Given the description of an element on the screen output the (x, y) to click on. 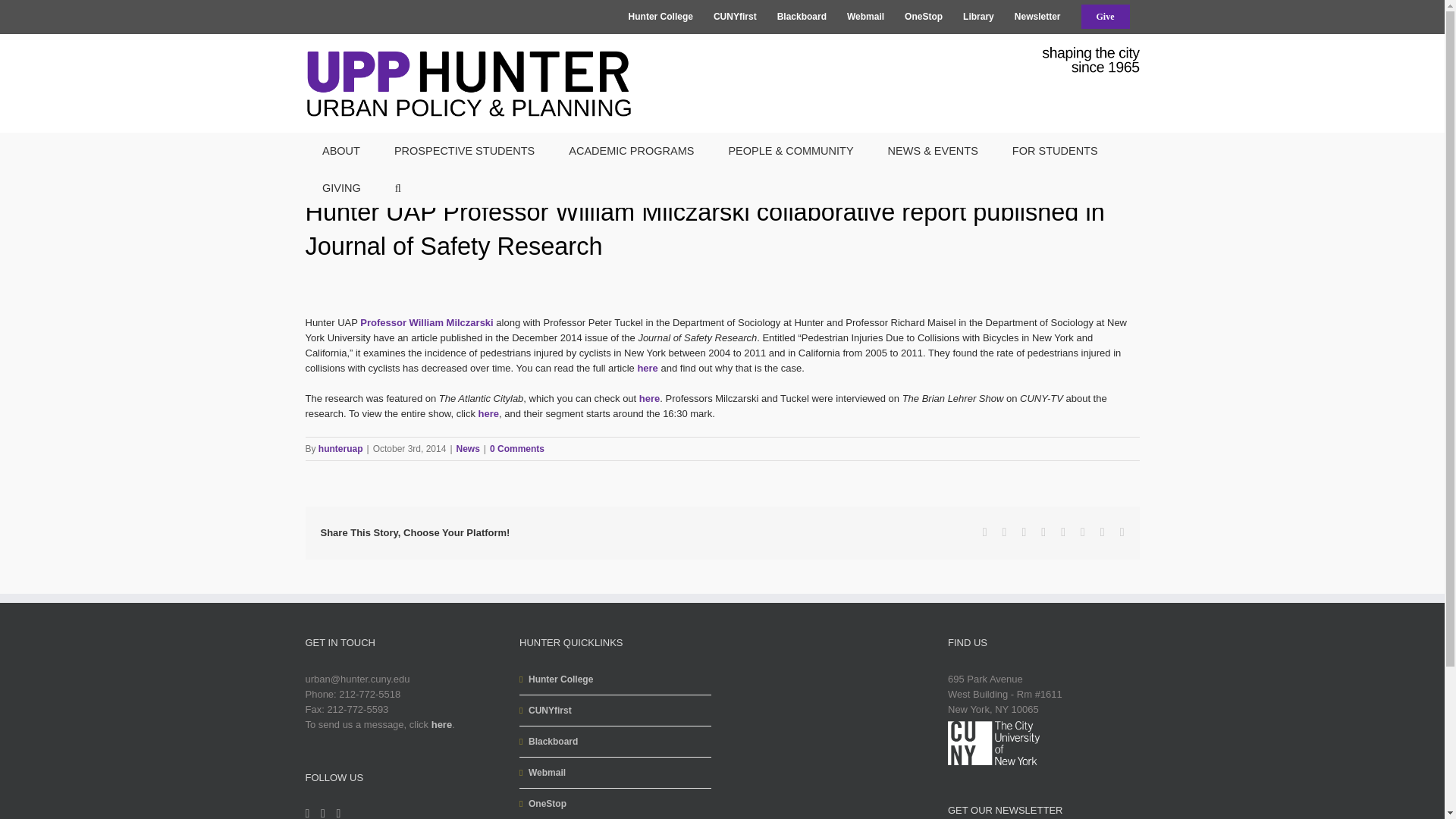
Blackboard (801, 16)
Hunter College (660, 16)
PROSPECTIVE STUDENTS (464, 150)
Webmail (865, 16)
Search (397, 188)
OneStop (923, 16)
Library (978, 16)
ACADEMIC PROGRAMS (631, 150)
Posts by hunteruap (340, 448)
CUNYfirst (735, 16)
